Given the description of an element on the screen output the (x, y) to click on. 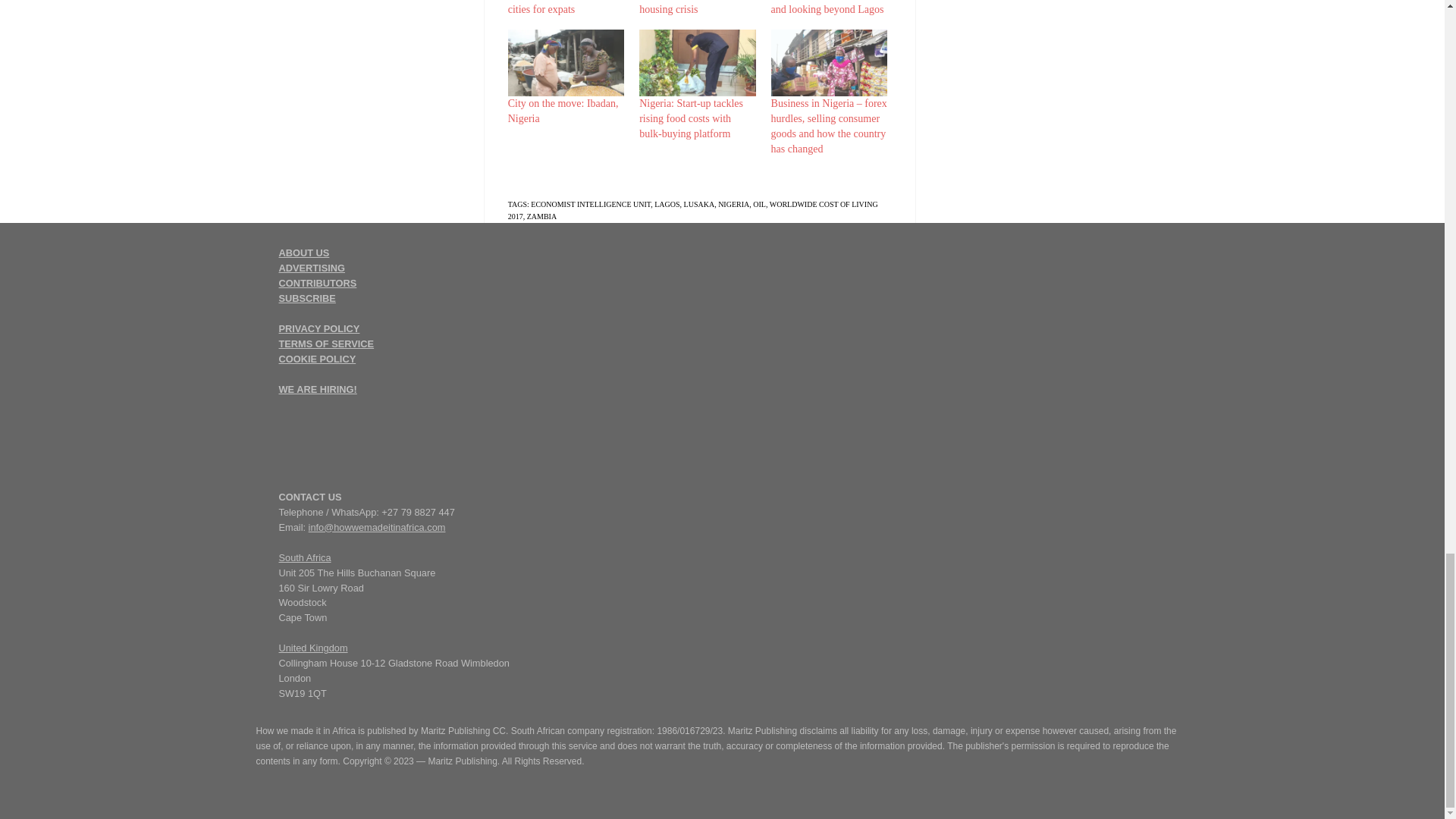
City on the move: Ibadan, Nigeria (563, 110)
City on the move: Ibadan, Nigeria (566, 62)
